Given the description of an element on the screen output the (x, y) to click on. 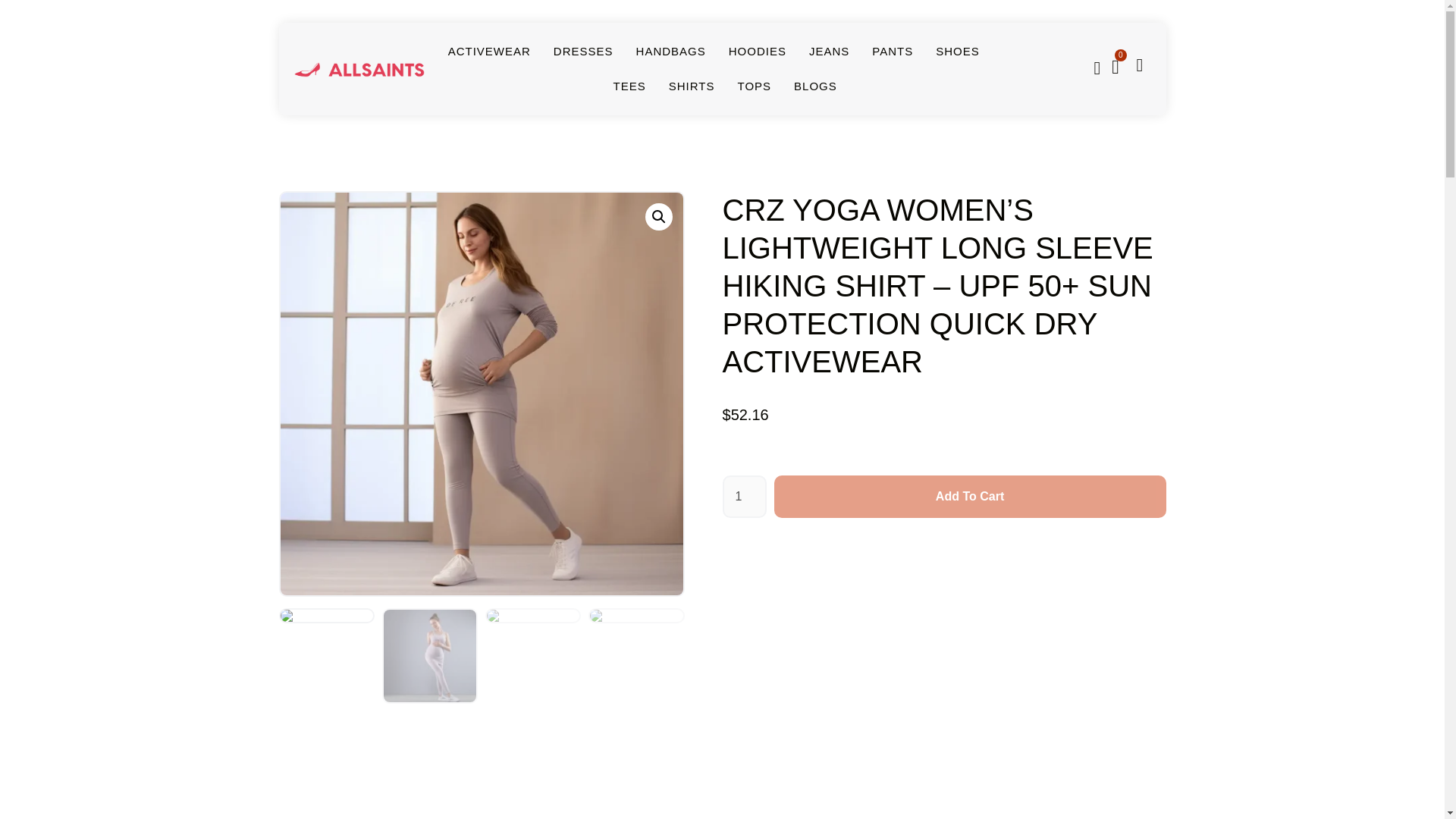
BLOGS (815, 86)
HANDBAGS (671, 51)
SHOES (957, 51)
ACTIVEWEAR (489, 51)
TOPS (753, 86)
1 (743, 496)
JEANS (828, 51)
PANTS (892, 51)
Add To Cart (970, 496)
0 (1115, 66)
HOODIES (757, 51)
SHIRTS (691, 86)
TEES (629, 86)
DRESSES (582, 51)
